Given the description of an element on the screen output the (x, y) to click on. 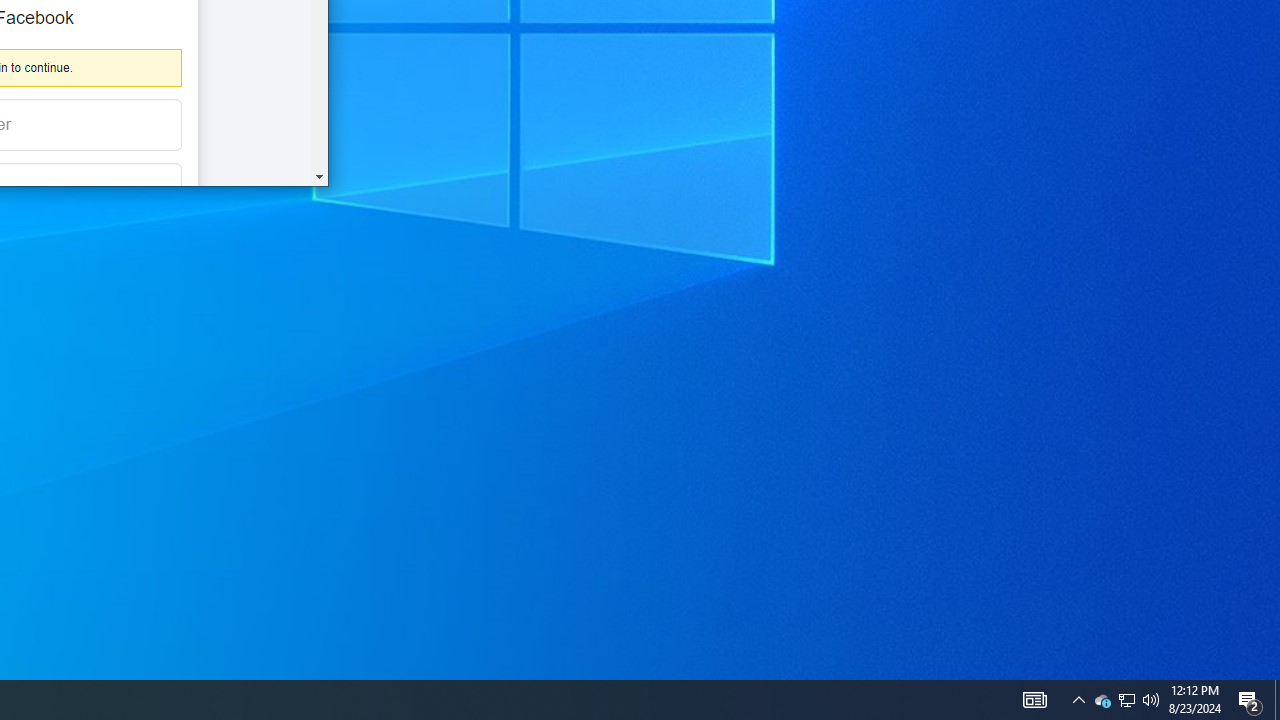
User Promoted Notification Area (1126, 699)
AutomationID: 4105 (1034, 699)
Q2790: 100% (1151, 699)
Notification Chevron (1078, 699)
Show desktop (1126, 699)
Action Center, 2 new notifications (1102, 699)
